Given the description of an element on the screen output the (x, y) to click on. 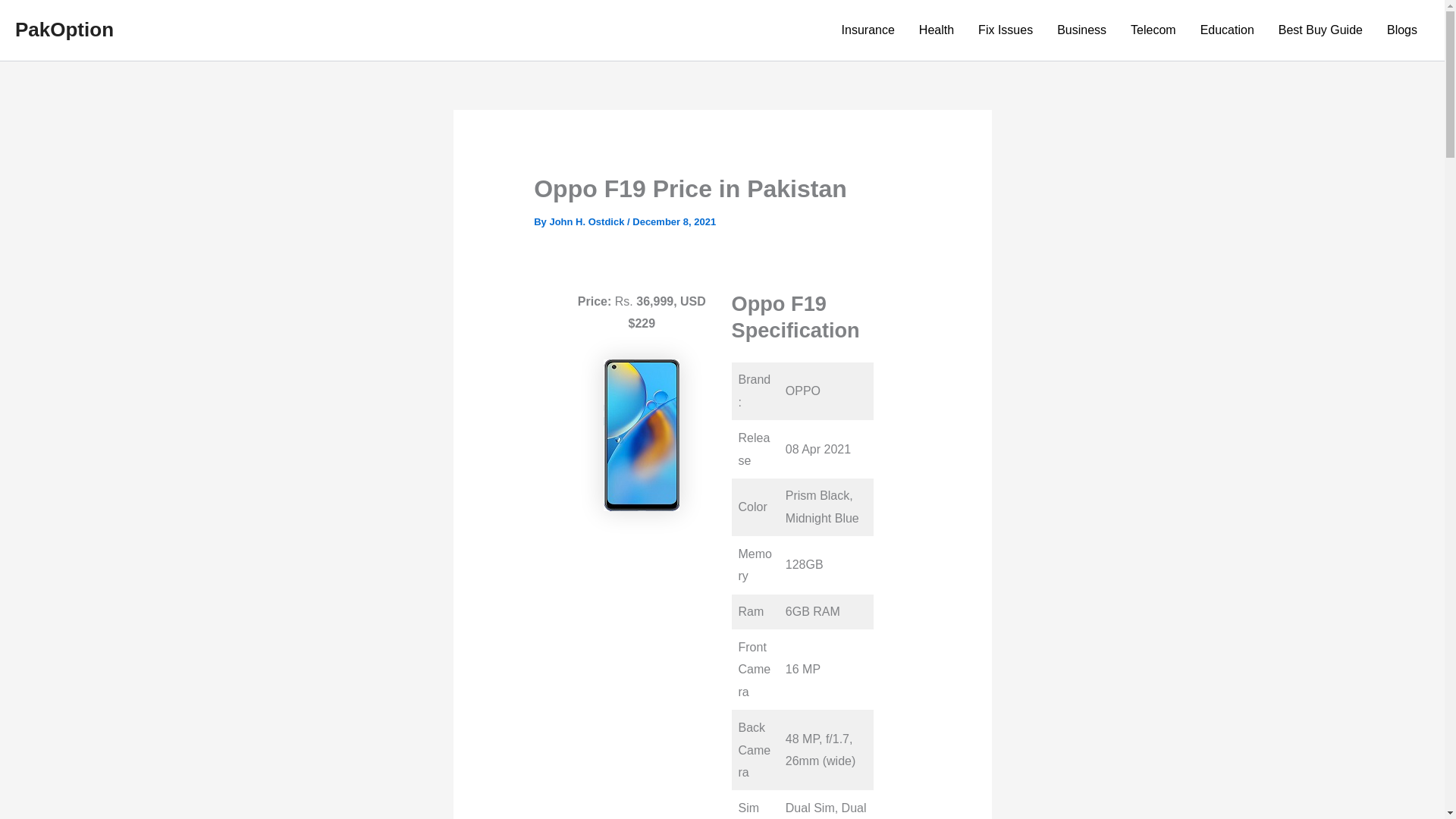
Education (1227, 30)
PakOption (63, 29)
Business (1081, 30)
Blogs (1401, 30)
Insurance (868, 30)
Health (936, 30)
Best Buy Guide (1320, 30)
Telecom (1153, 30)
Fix Issues (1005, 30)
John H. Ostdick (587, 221)
View all posts by John H. Ostdick (587, 221)
